Given the description of an element on the screen output the (x, y) to click on. 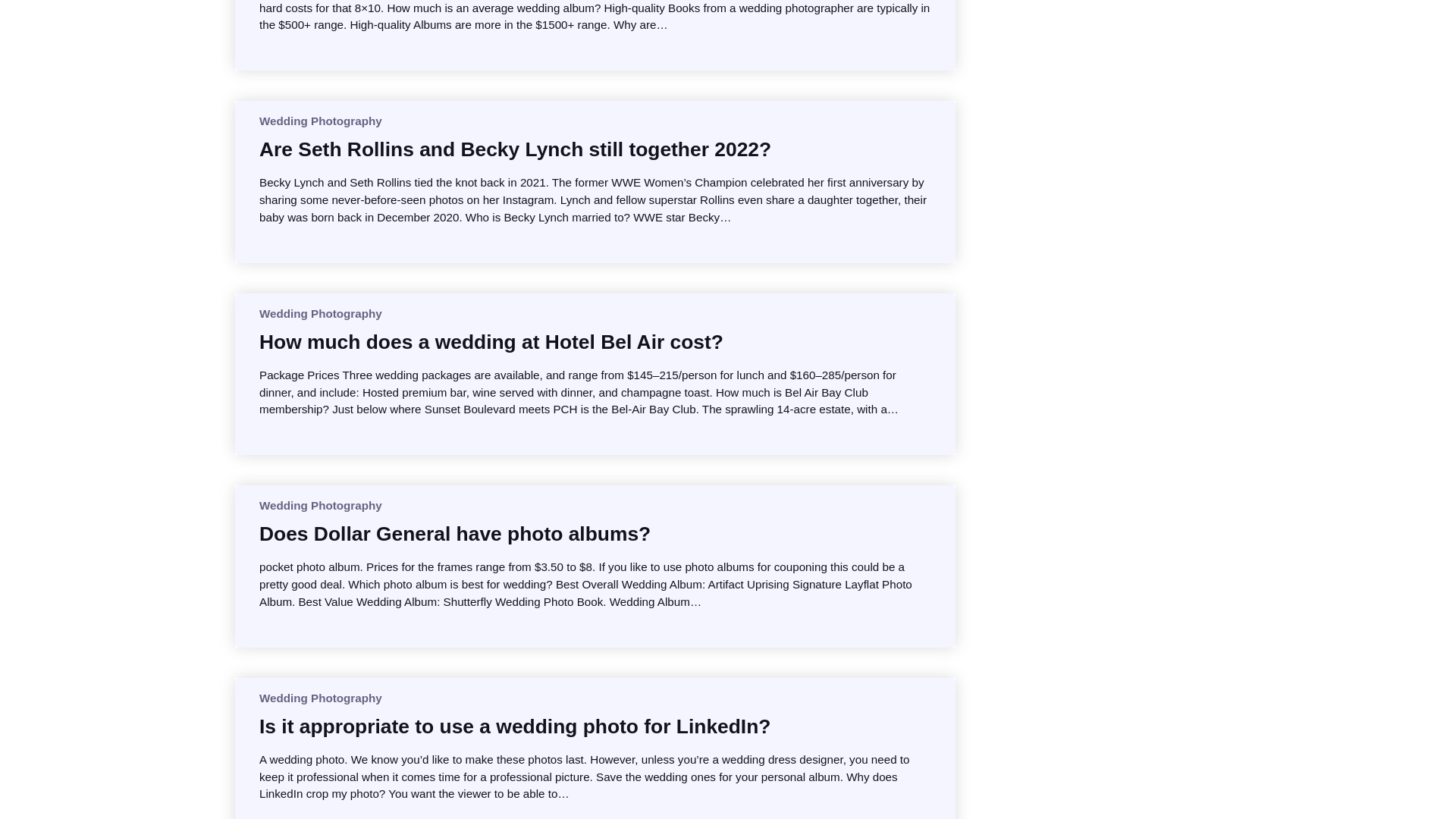
Are Seth Rollins and Becky Lynch still together 2022? (515, 149)
How much does a wedding at Hotel Bel Air cost? (491, 341)
Is it appropriate to use a wedding photo for LinkedIn? (514, 726)
Does Dollar General have photo albums? (454, 533)
Wedding Photography (320, 120)
Wedding Photography (320, 313)
Wedding Photography (320, 504)
Wedding Photography (320, 697)
